Given the description of an element on the screen output the (x, y) to click on. 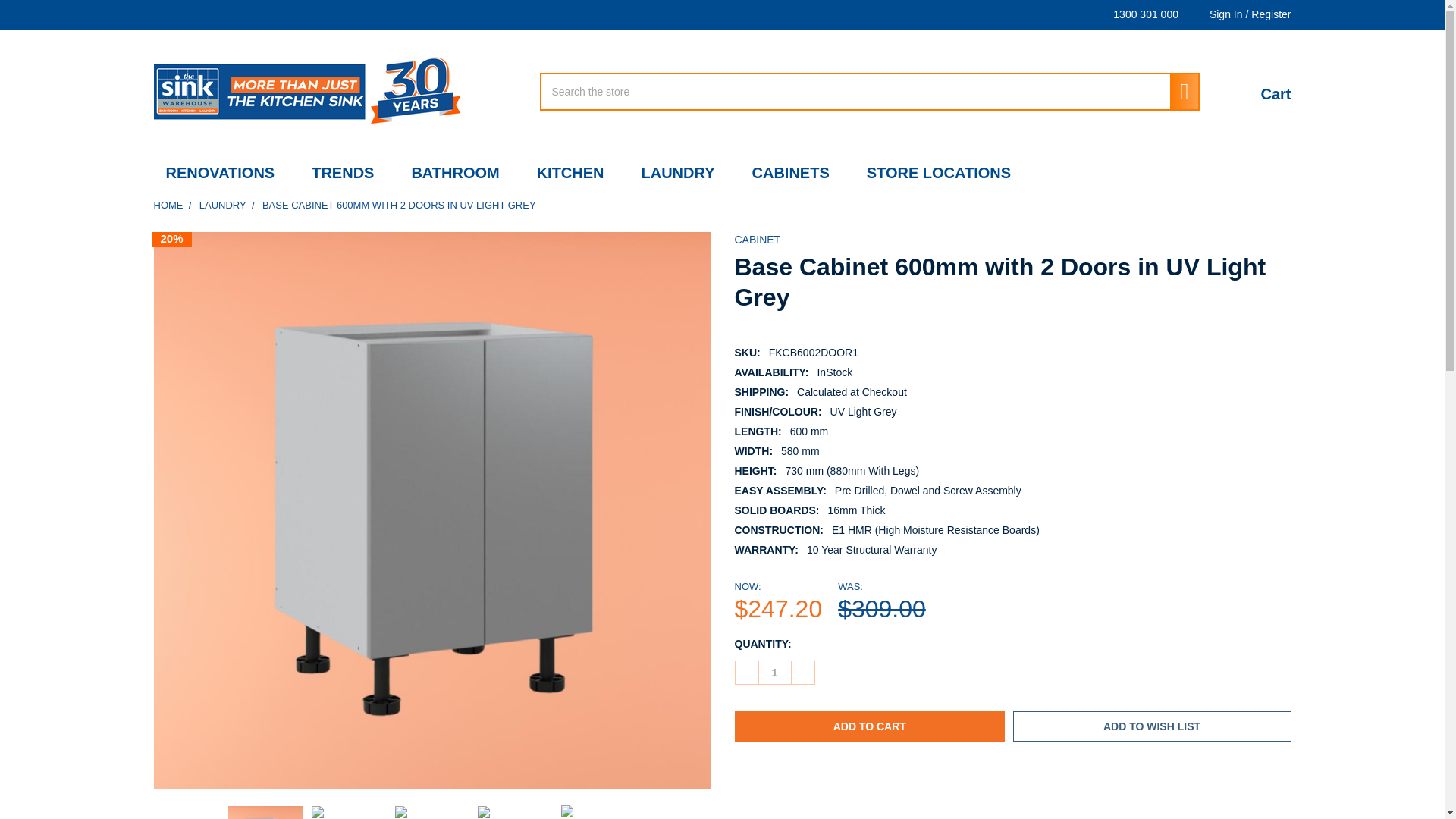
Cart (1258, 92)
Base Cabinet 600mm with 2 Doors in UV Light Grey (348, 812)
Search (1177, 91)
1 (774, 671)
Cart (1258, 92)
Search (1177, 91)
The Sink Warehouse (308, 91)
Sign In (1218, 14)
Add to Cart (868, 726)
